Given the description of an element on the screen output the (x, y) to click on. 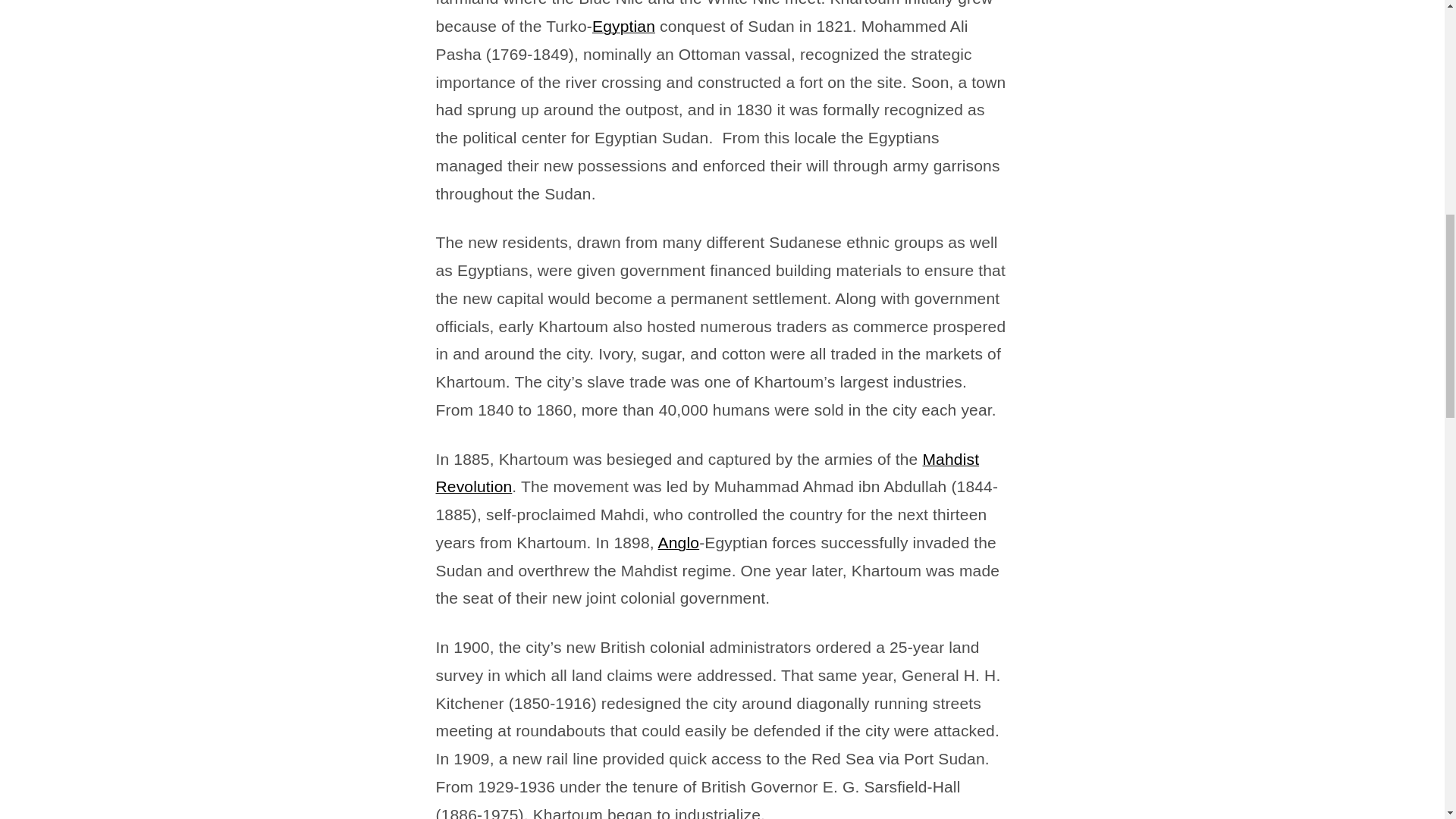
Mahdist Revolution (706, 473)
Egyptian (623, 26)
